Given the description of an element on the screen output the (x, y) to click on. 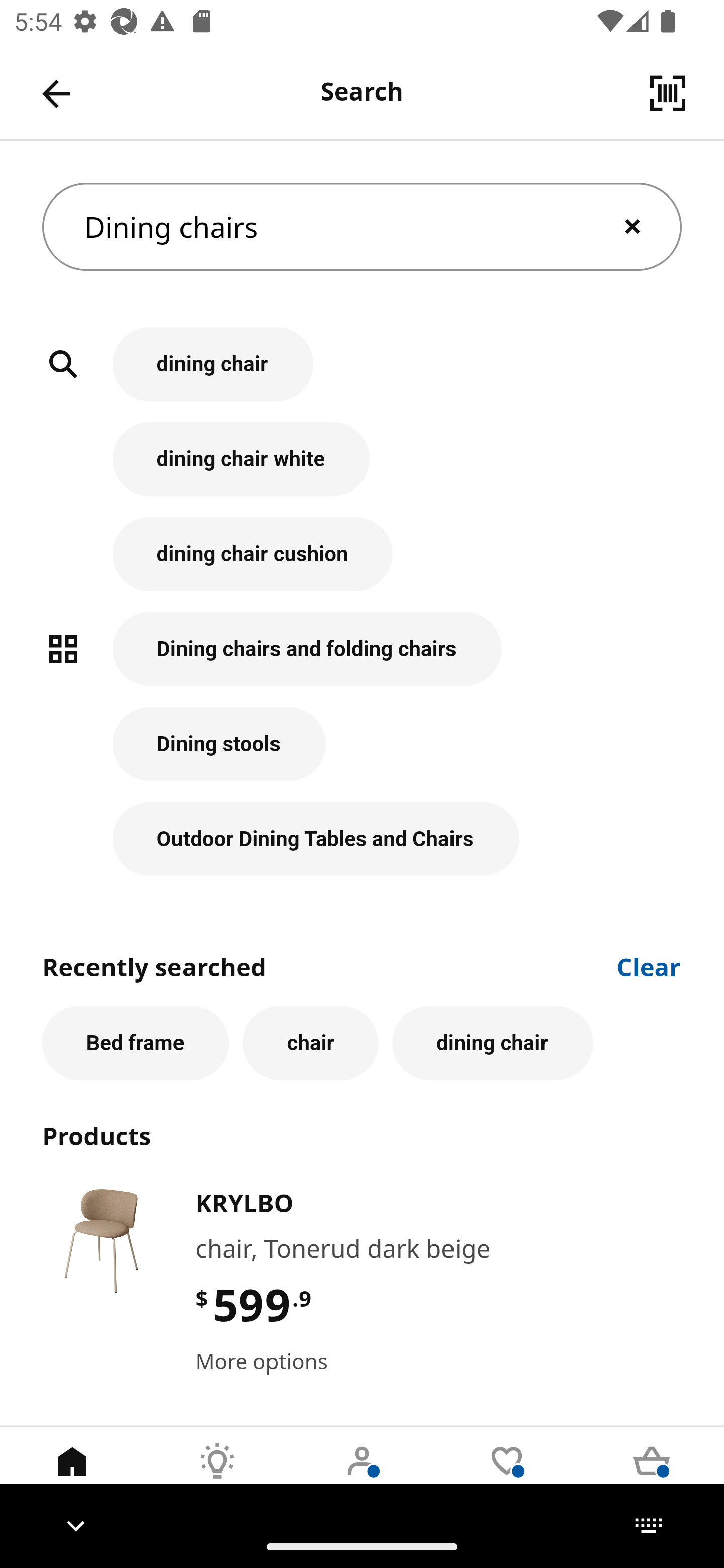
Dining chairs (361, 227)
dining chair (361, 374)
dining chair white (361, 469)
dining chair cushion (361, 564)
Dining chairs and folding chairs (361, 659)
Dining stools (361, 754)
Outdoor Dining Tables and Chairs (361, 839)
Clear (649, 965)
Bed frame (134, 1043)
chair (310, 1043)
dining chair (492, 1043)
Home
Tab 1 of 5 (72, 1476)
Inspirations
Tab 2 of 5 (216, 1476)
User
Tab 3 of 5 (361, 1476)
Wishlist
Tab 4 of 5 (506, 1476)
Cart
Tab 5 of 5 (651, 1476)
